Given the description of an element on the screen output the (x, y) to click on. 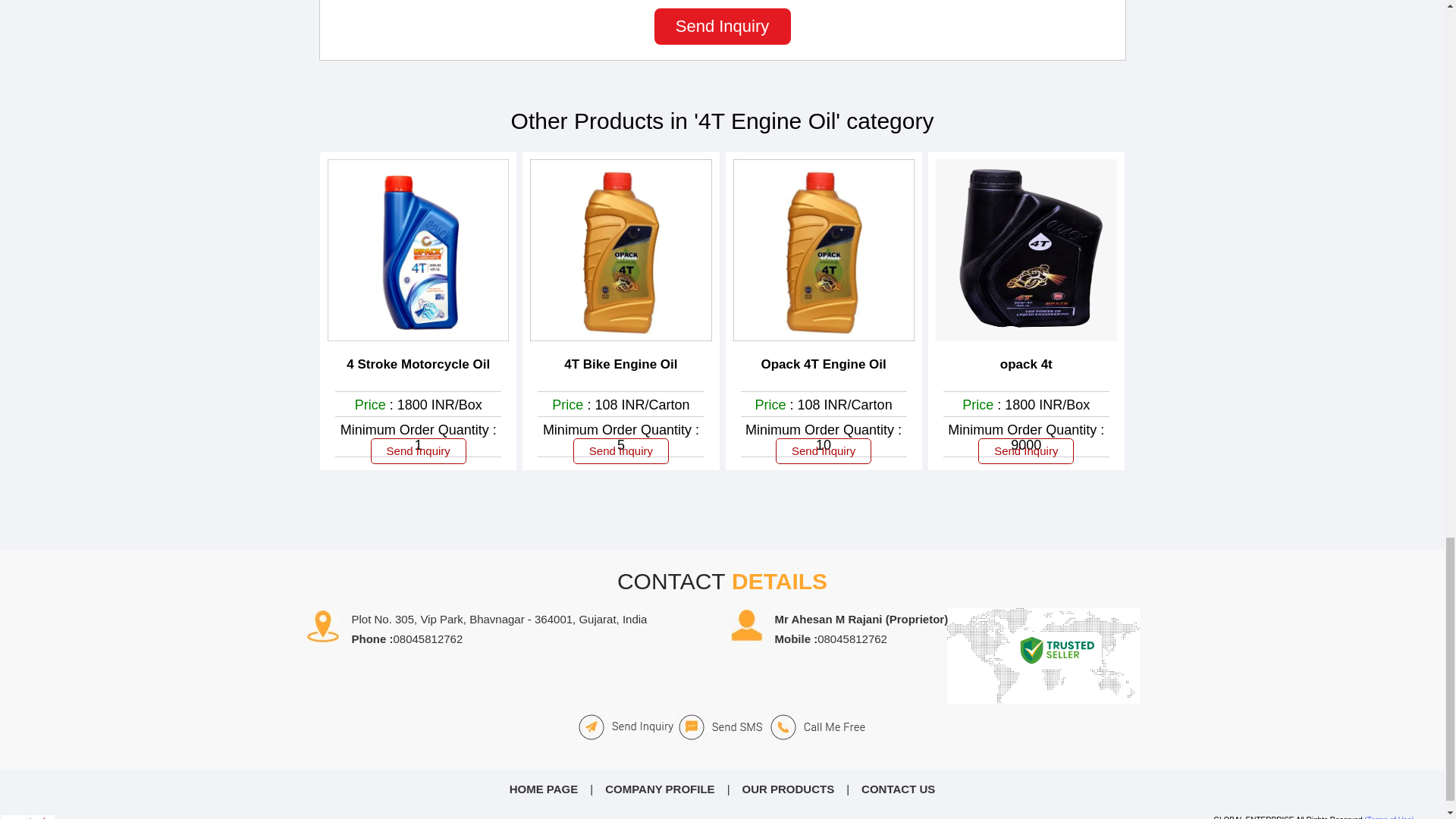
Send SMS (720, 727)
Call Me Free (817, 727)
Send Inquiry (721, 26)
Send inquiry (625, 727)
